Given the description of an element on the screen output the (x, y) to click on. 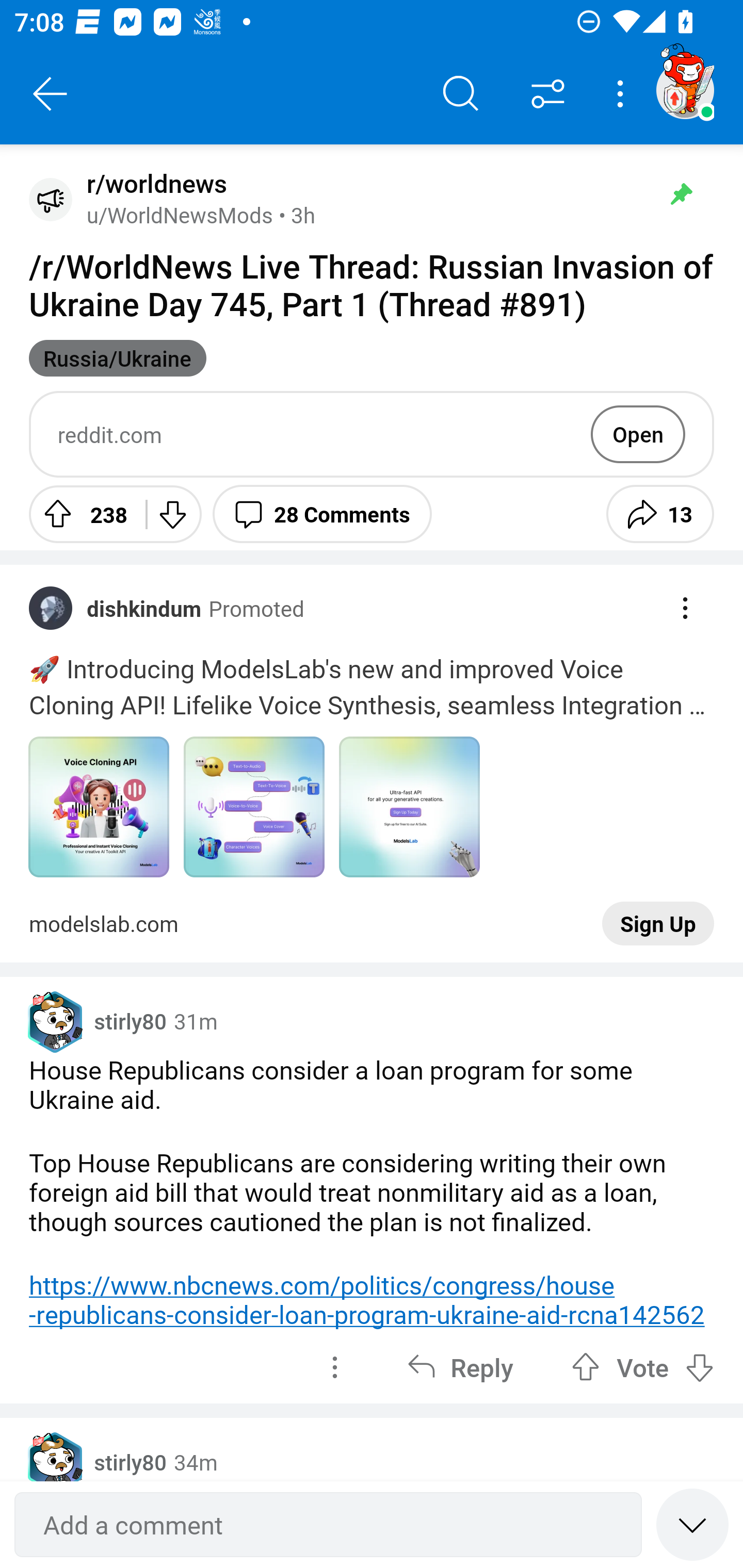
Back (50, 93)
TestAppium002 account (685, 90)
Search comments (460, 93)
Sort comments (547, 93)
More options (623, 93)
r/worldnews (153, 183)
Avatar (50, 199)
Pinned (681, 194)
Russia/Ukraine (117, 358)
reddit.com Open (371, 434)
Open (637, 434)
Upvote 238 (79, 514)
Downvote (171, 514)
28 Comments (321, 514)
Share 13 (660, 514)
Image 2 of 3.  (253, 807)
Image 3 of 3.  (408, 807)
options (334, 1367)
Reply (460, 1367)
Upvote Vote Downvote (642, 1367)
Speed read (692, 1524)
Add a comment (327, 1524)
